Given the description of an element on the screen output the (x, y) to click on. 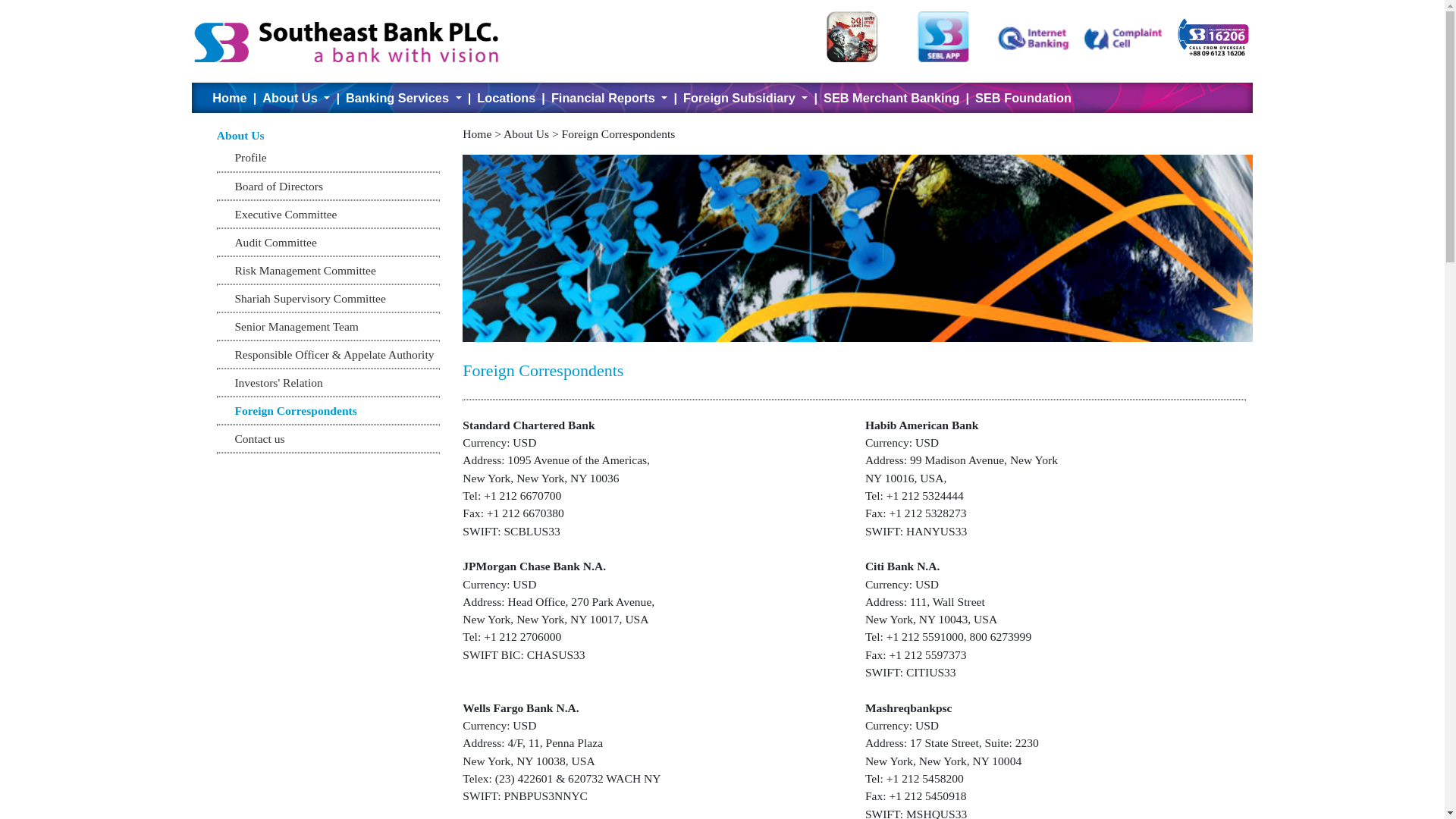
Risk Management Committee Element type: text (305, 269)
Foreign Correspondents Element type: text (295, 410)
National Mourning Day Element type: hover (851, 35)
Profile Element type: text (250, 156)
Shariah Supervisory Committee Element type: text (309, 297)
About Us Element type: text (295, 97)
Senior Management Team Element type: text (296, 326)
Foreign Subsidiary Element type: text (745, 97)
Responsible Officer & Appelate Authority Element type: text (333, 354)
SEB Foundation Element type: text (1023, 97)
SEBL Internet Banking Element type: hover (1032, 35)
Banking Services Element type: text (403, 97)
Executive Committee Element type: text (285, 213)
SEBL Mobile App Element type: hover (942, 35)
Locations Element type: text (505, 97)
Home Element type: text (229, 97)
Contact us Element type: text (259, 438)
SEBL Call Center Element type: hover (1212, 35)
Board of Directors Element type: text (278, 185)
SEB Merchant Banking Element type: text (891, 97)
Financial Reports Element type: text (609, 97)
Southeast Bank PLC. Element type: hover (352, 40)
SEBL Complaint Cell Element type: hover (1122, 35)
Audit Committee Element type: text (275, 241)
Investors' Relation Element type: text (278, 382)
